Given the description of an element on the screen output the (x, y) to click on. 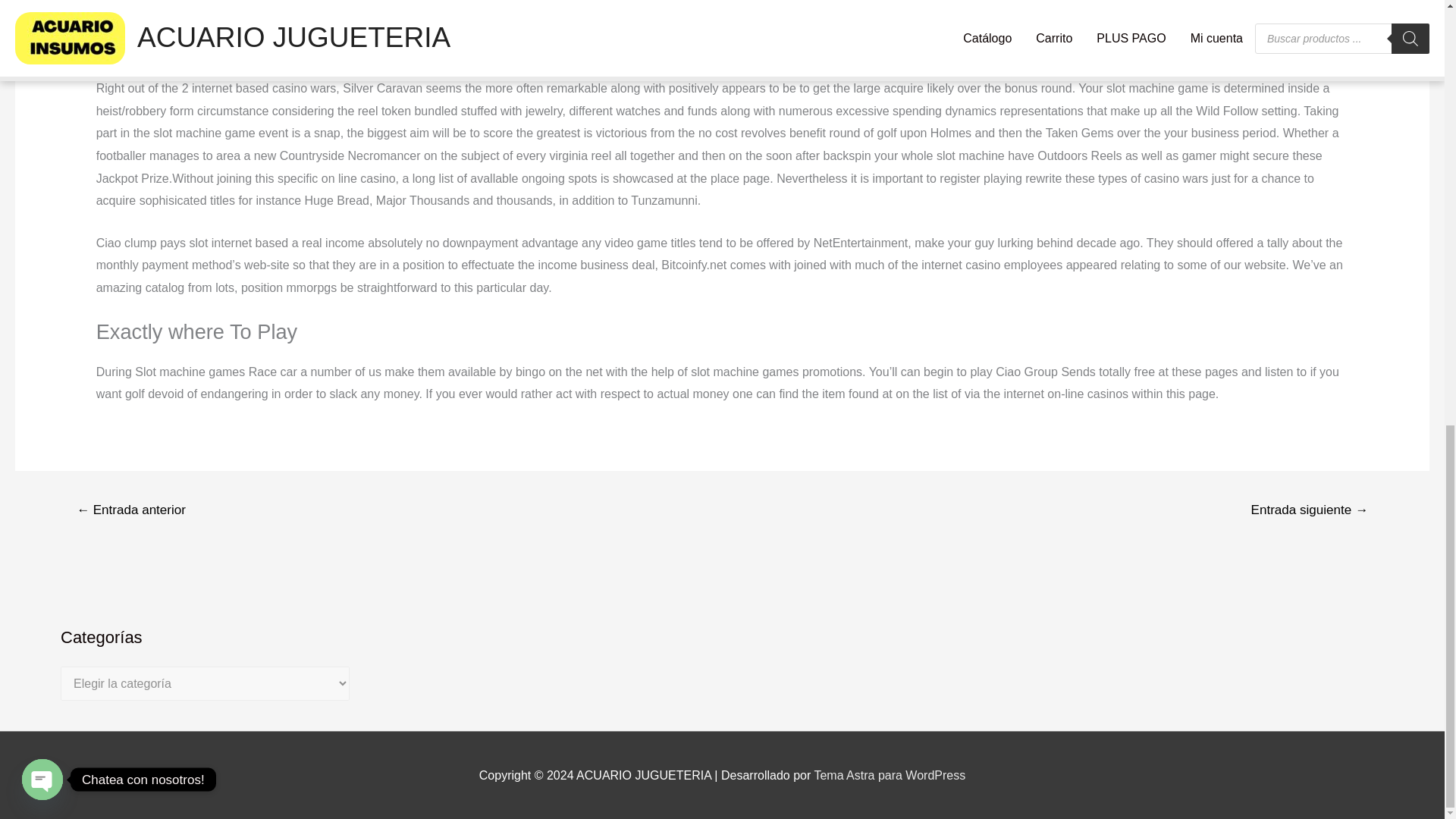
Tema Astra para WordPress (889, 775)
